Given the description of an element on the screen output the (x, y) to click on. 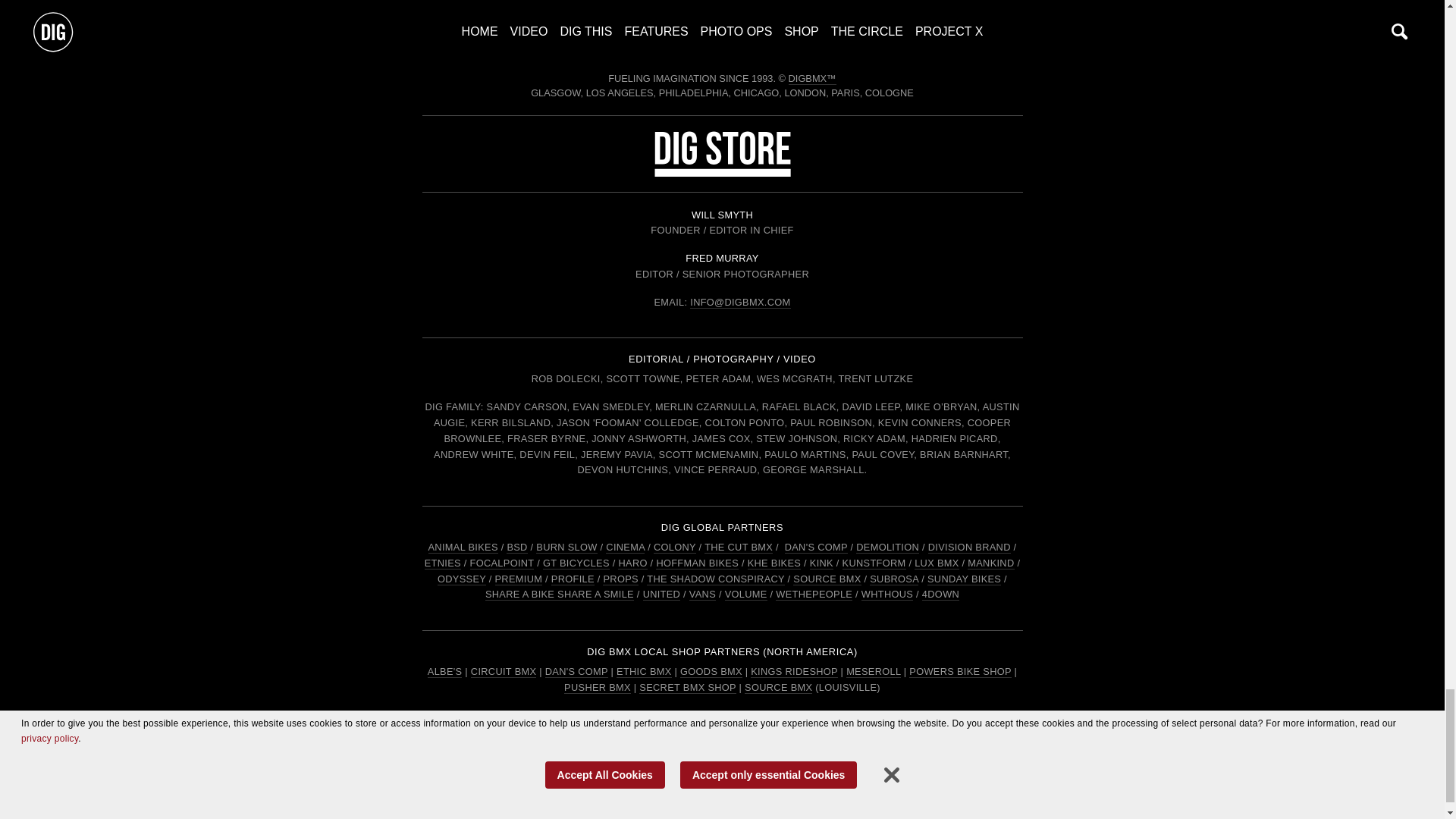
To the top (722, 37)
